Given the description of an element on the screen output the (x, y) to click on. 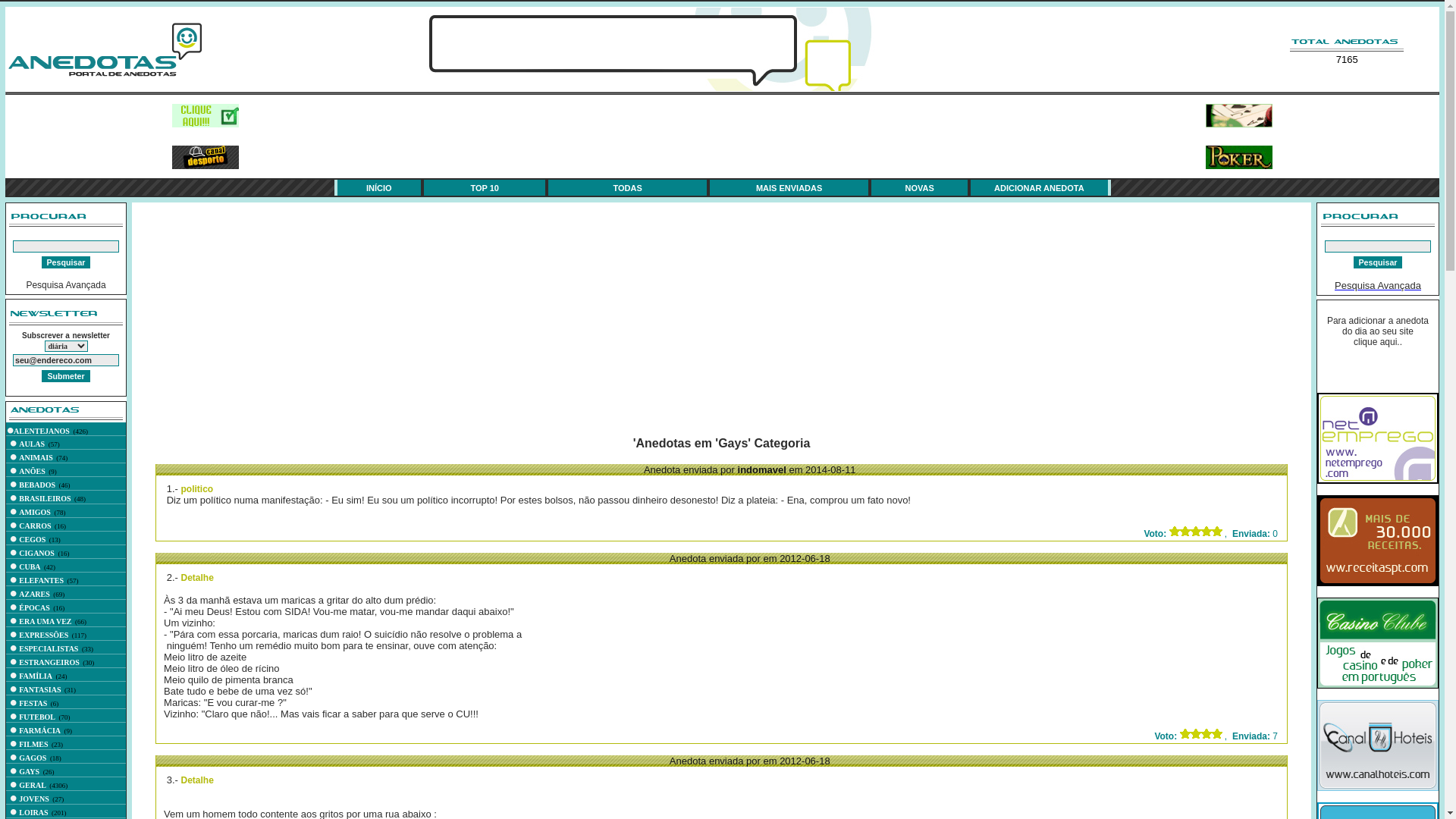
ESPECIALISTAS Element type: text (48, 648)
ANIMAIS Element type: text (35, 457)
NOVAS Element type: text (919, 187)
CEGOS Element type: text (31, 539)
Submeter Element type: text (65, 376)
AMIGOS Element type: text (34, 512)
ALENTEJANOS Element type: text (41, 430)
CUBA Element type: text (29, 566)
GAYS Element type: text (28, 771)
Detalhe Element type: text (196, 577)
GERAL Element type: text (32, 785)
ESTRANGEIROS Element type: text (48, 662)
BRASILEIROS Element type: text (44, 498)
CARROS Element type: text (34, 525)
Advertisement Element type: hover (714, 136)
JOVENS Element type: text (33, 798)
Pesquisar Element type: text (1377, 262)
Pesquisar Element type: text (66, 262)
Detalhe Element type: text (196, 780)
AZARES Element type: text (34, 593)
FESTAS Element type: text (32, 703)
MAIS ENVIADAS Element type: text (789, 187)
AULAS Element type: text (31, 443)
LOIRAS Element type: text (32, 812)
CIGANOS Element type: text (36, 553)
FUTEBOL Element type: text (36, 716)
Para adicionar a anedota
do dia ao seu site
clique aqui.. Element type: text (1377, 331)
TOP 10 Element type: text (484, 187)
TODAS Element type: text (626, 187)
ADICIONAR ANEDOTA Element type: text (1039, 187)
Advertisement Element type: hover (1012, 316)
GAGOS Element type: text (32, 757)
BEBADOS Element type: text (36, 484)
FANTASIAS Element type: text (39, 689)
ERA UMA VEZ Element type: text (44, 621)
politico Element type: text (196, 488)
FILMES Element type: text (32, 744)
ELEFANTES Element type: text (40, 580)
Advertisement Element type: hover (429, 316)
